Given the description of an element on the screen output the (x, y) to click on. 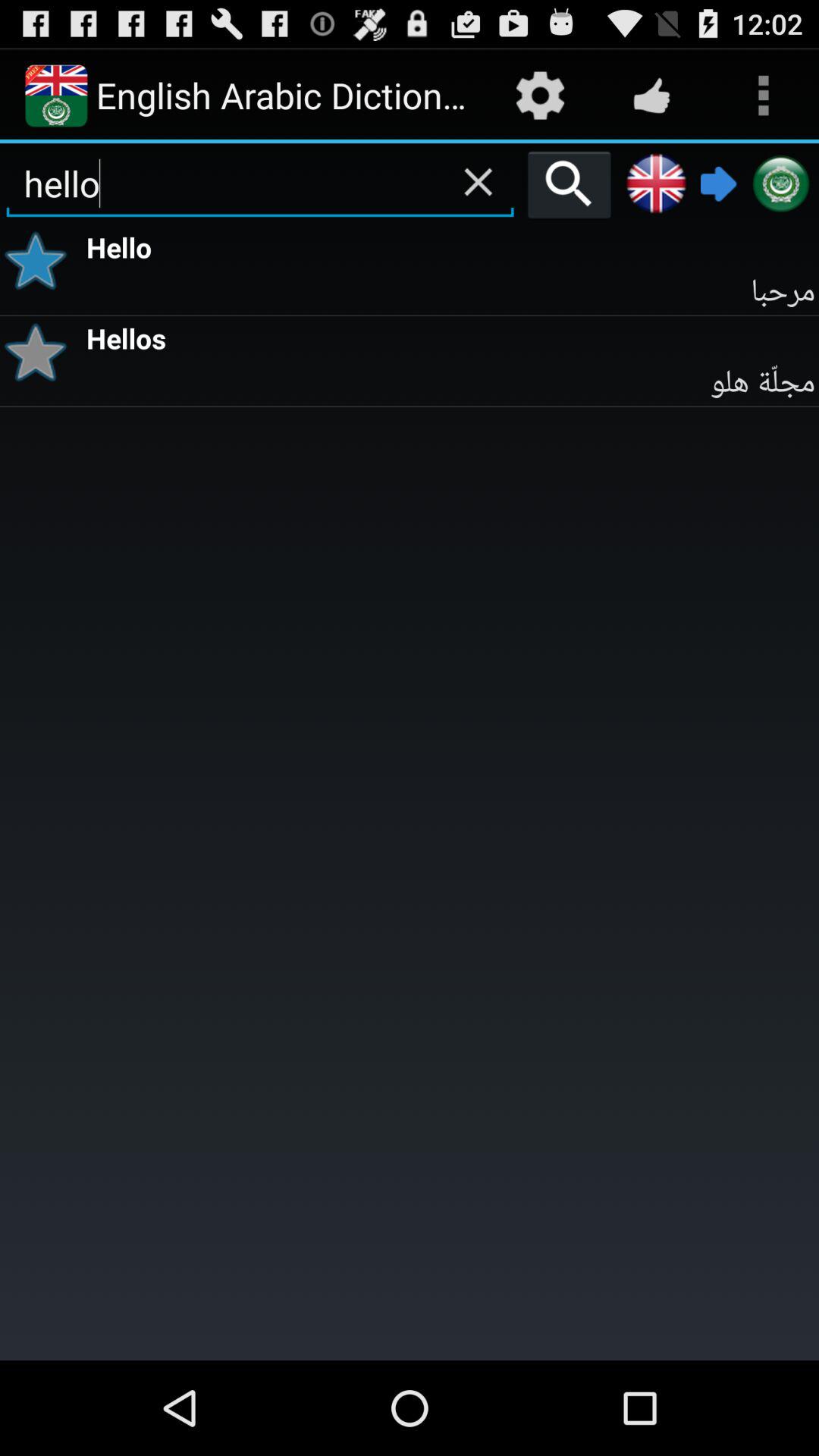
tap item below the hello (41, 260)
